Given the description of an element on the screen output the (x, y) to click on. 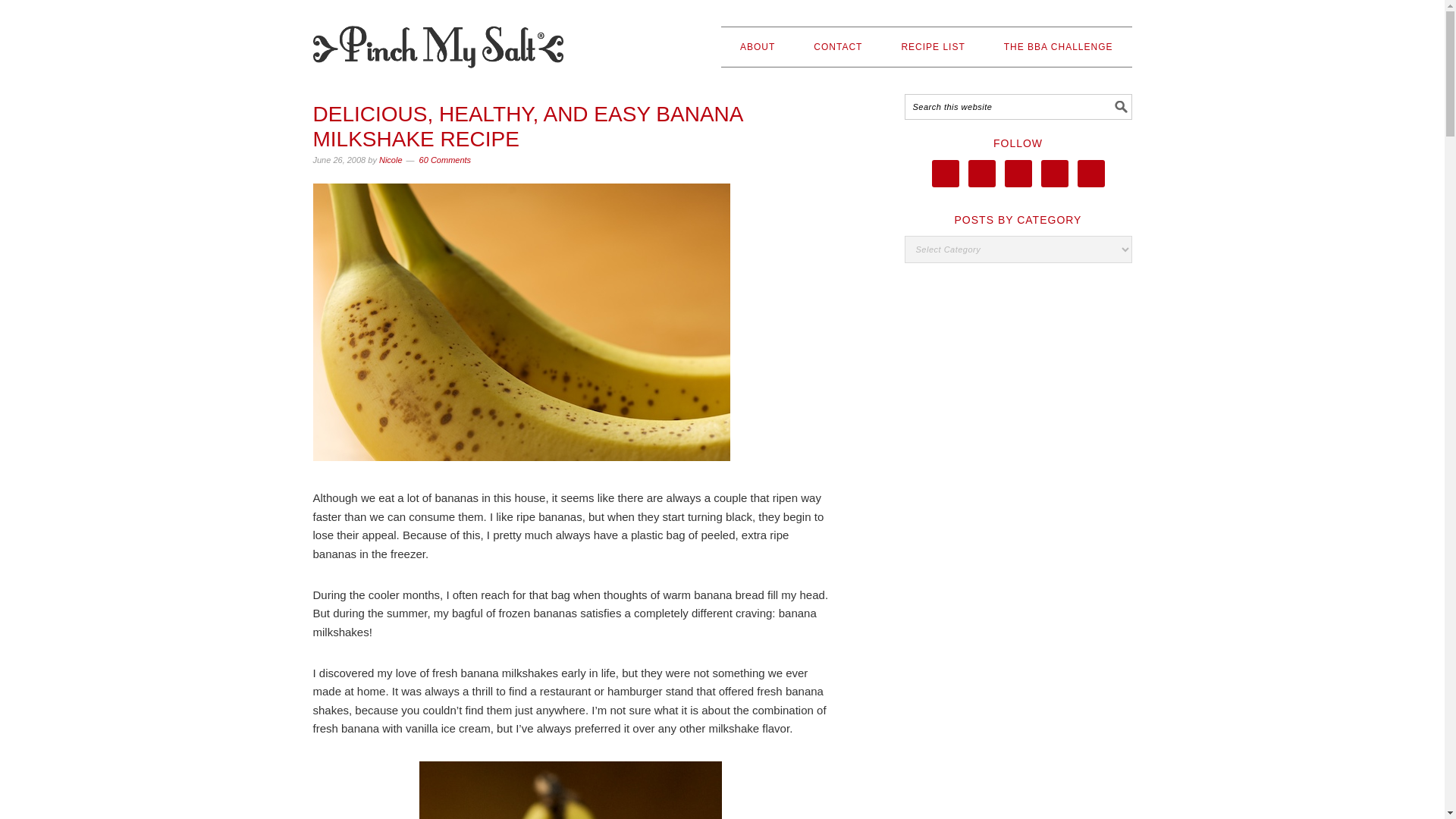
RECIPE LIST (933, 46)
Nicole (390, 159)
PINCH MY SALT (437, 40)
CONTACT (837, 46)
ABOUT (756, 46)
60 Comments (444, 159)
THE BBA CHALLENGE (1058, 46)
